Given the description of an element on the screen output the (x, y) to click on. 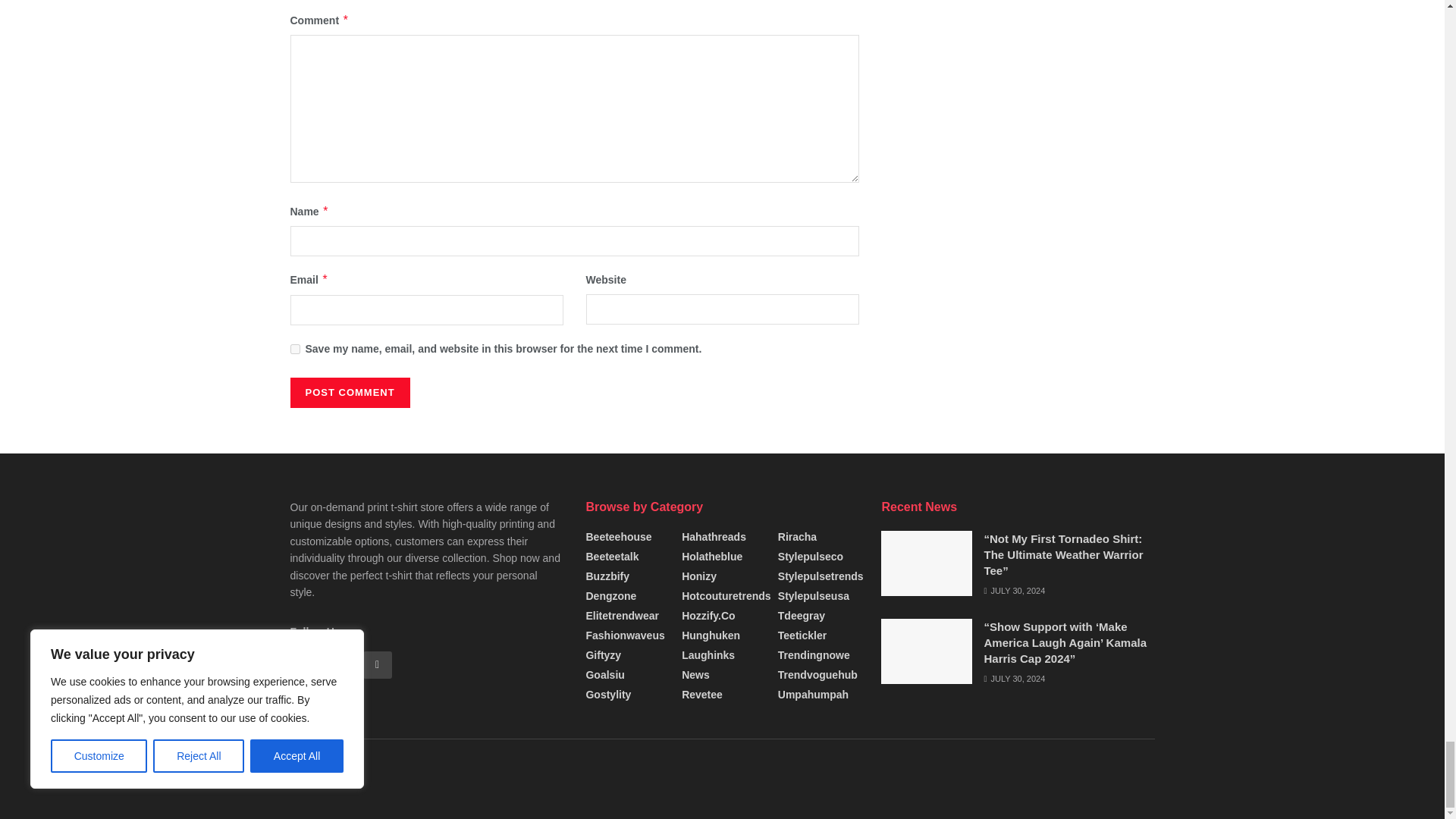
Post Comment (349, 392)
yes (294, 348)
